Given the description of an element on the screen output the (x, y) to click on. 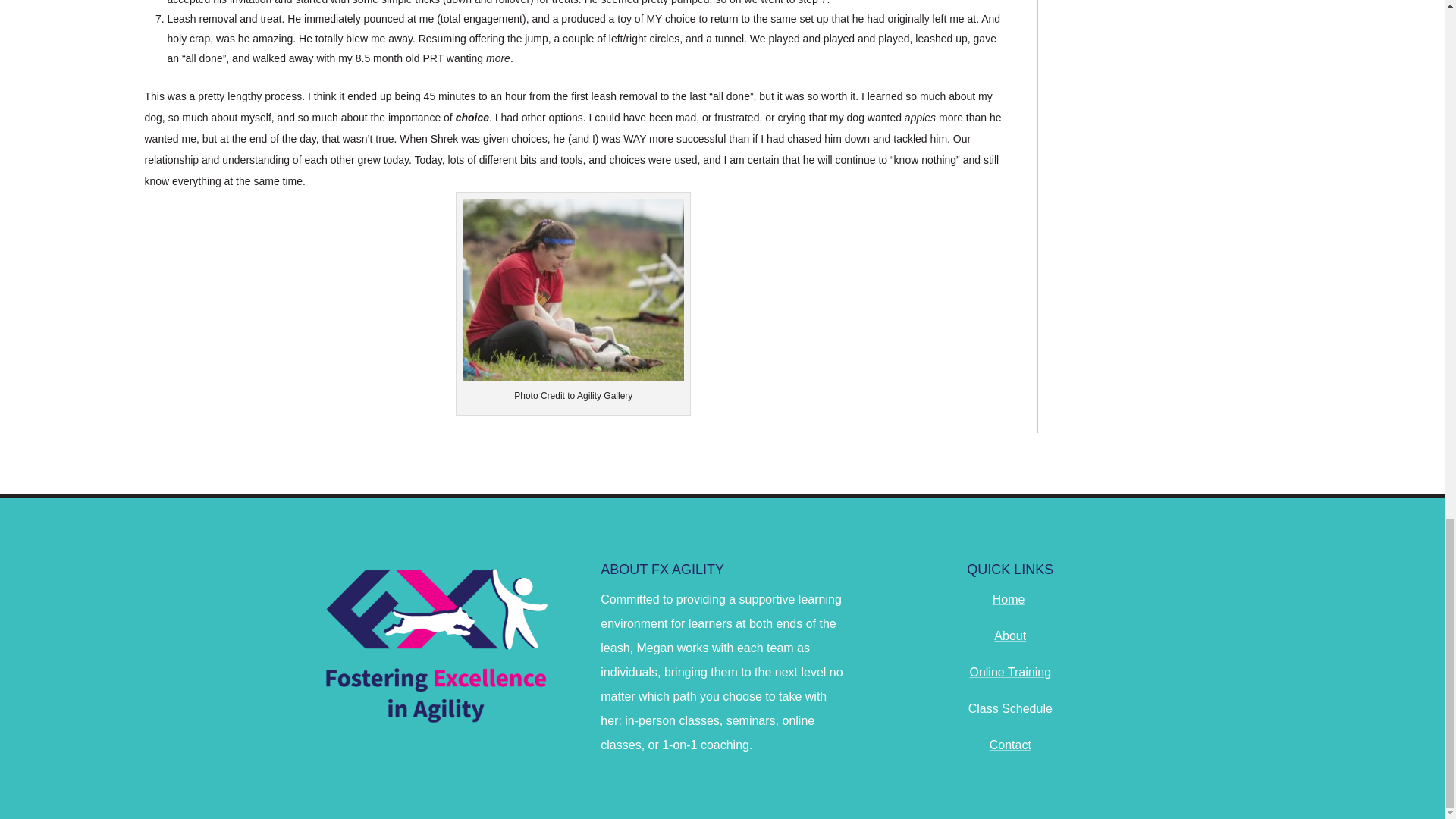
FX-Agillity-Logo-forTEALbkgnd (433, 643)
About (1010, 635)
Online Training (1010, 671)
Contact (1010, 744)
Home (1008, 599)
Class Schedule (1010, 707)
